Given the description of an element on the screen output the (x, y) to click on. 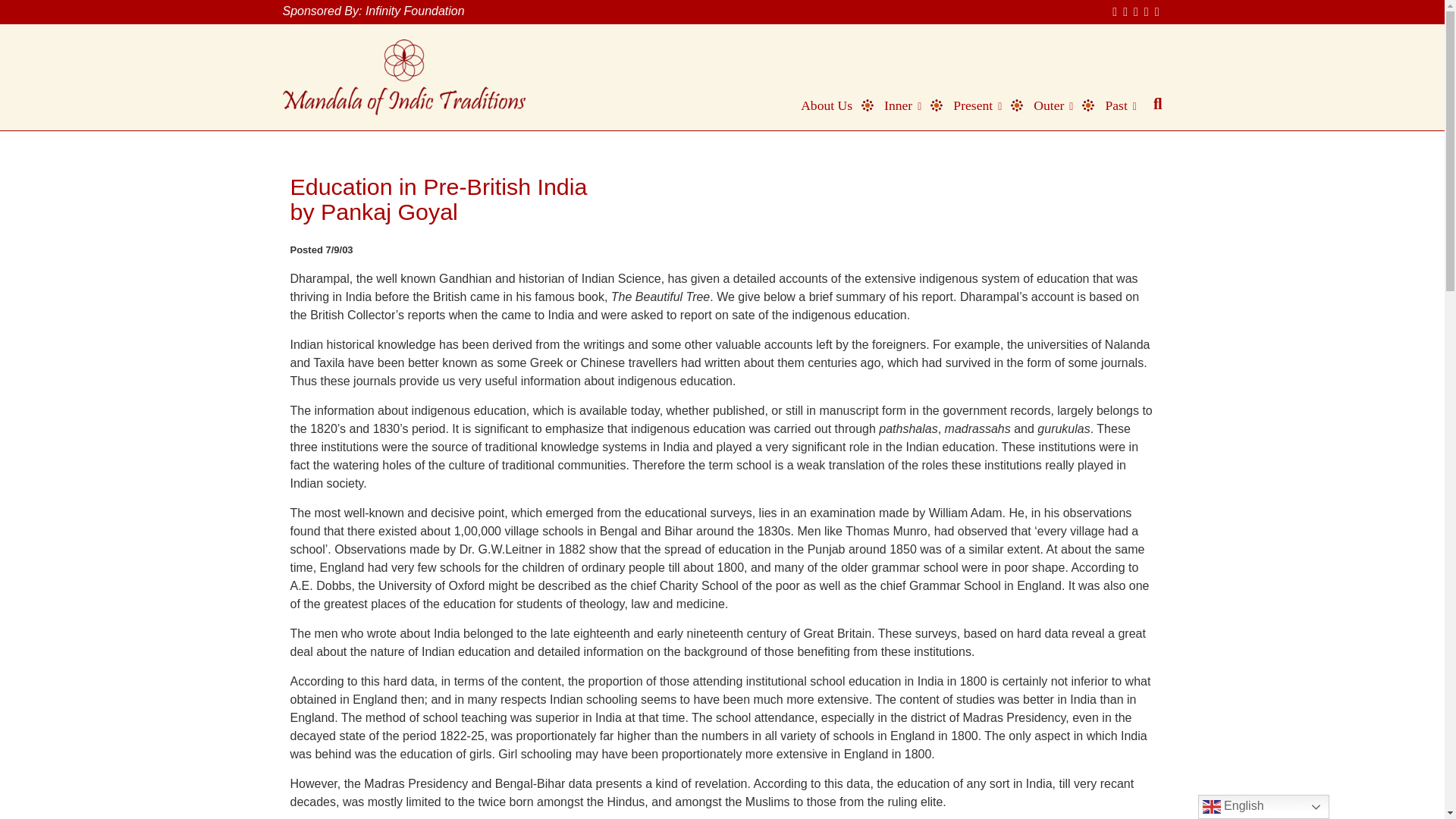
Inner (895, 104)
Present (970, 104)
Indic Mandala (403, 77)
About Us (819, 104)
Past (1112, 104)
Outer (1045, 104)
English (1263, 806)
